Given the description of an element on the screen output the (x, y) to click on. 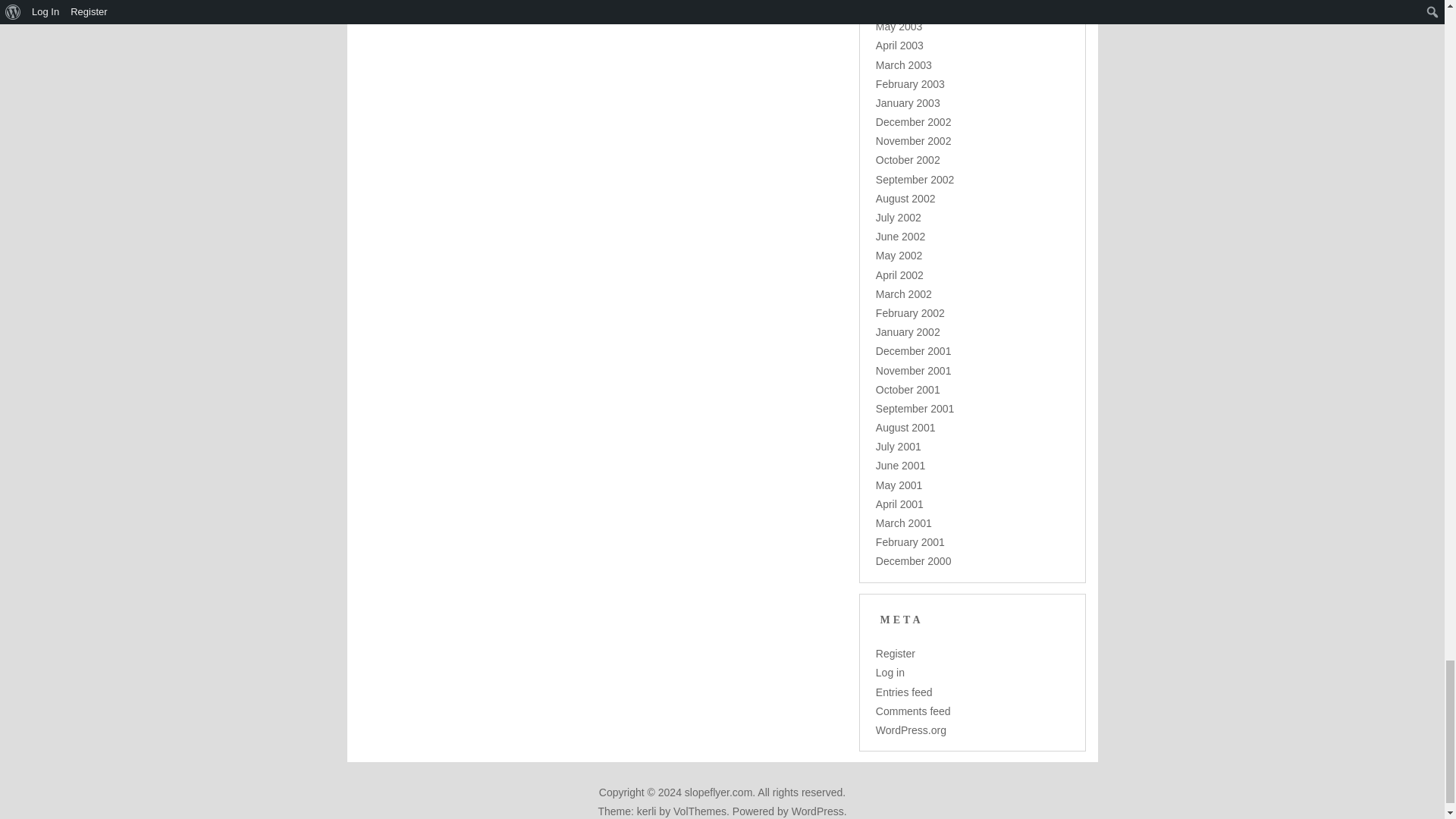
WordPress (818, 811)
slopeflyer.com (718, 792)
VolThemes (699, 811)
